Given the description of an element on the screen output the (x, y) to click on. 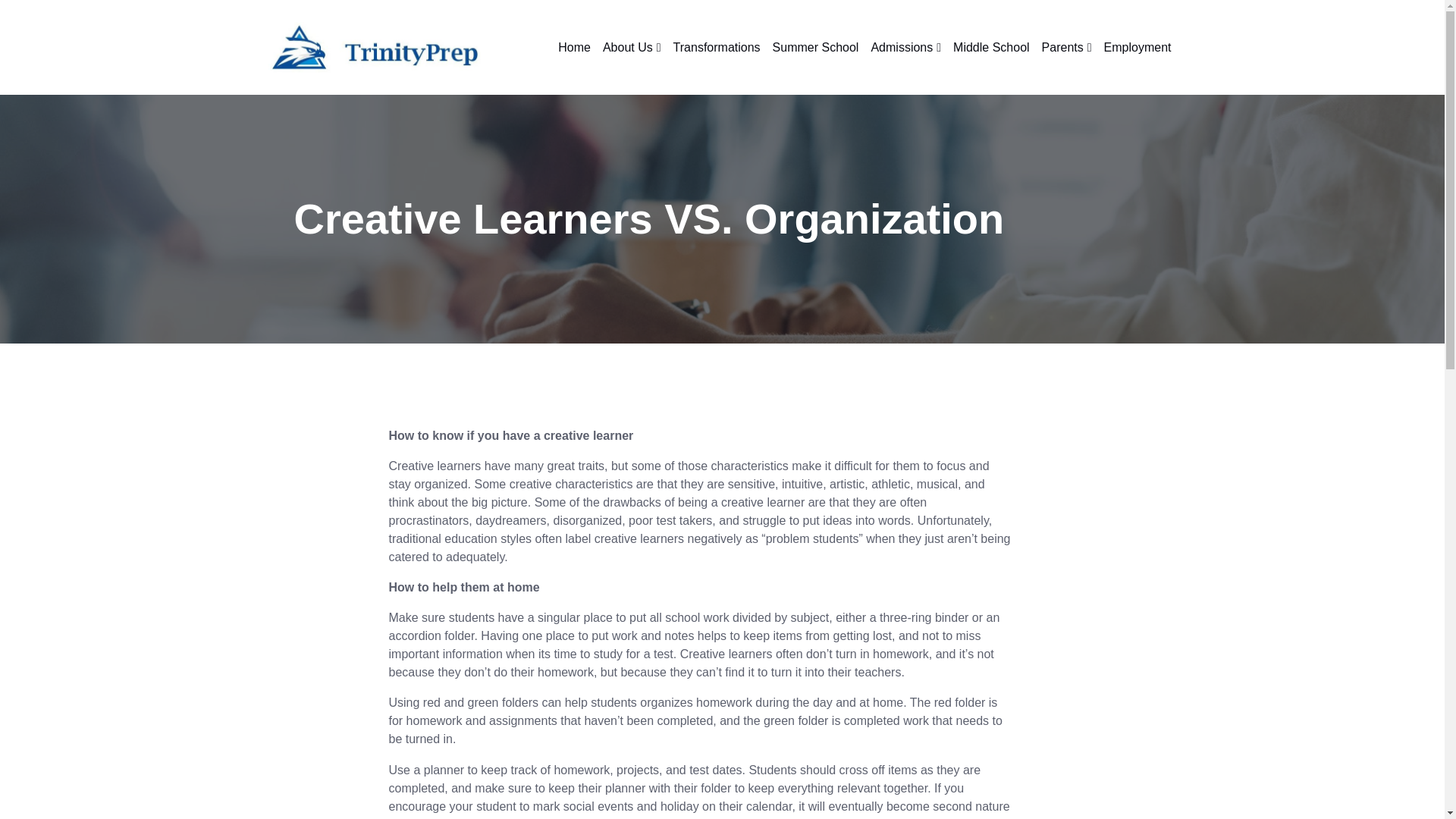
Admissions (905, 47)
About Us (631, 47)
Home (573, 47)
Summer School (815, 47)
Middle School (991, 47)
Employment (1137, 47)
Parents (1066, 47)
Transformations (716, 47)
